Given the description of an element on the screen output the (x, y) to click on. 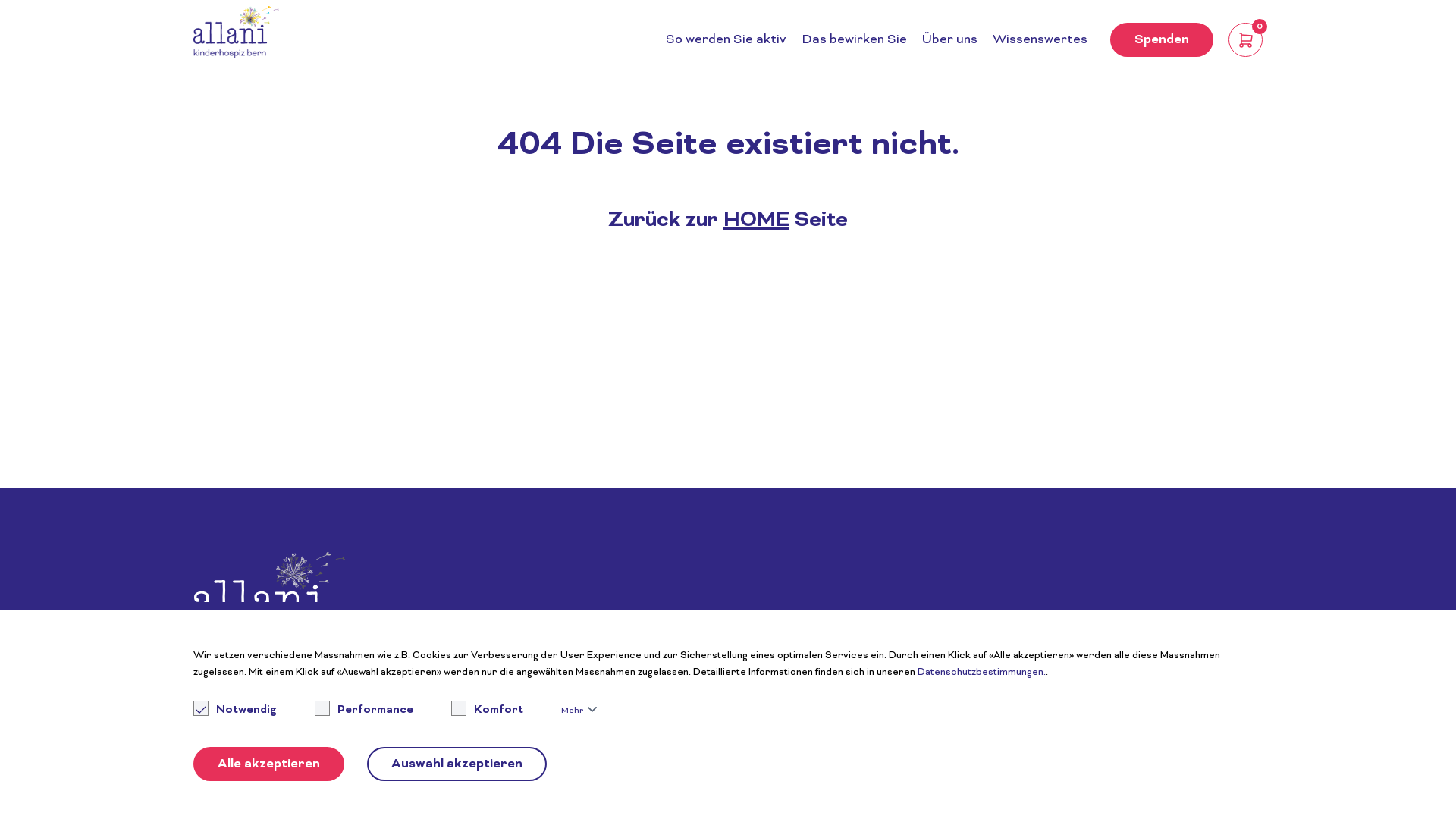
So werden Sie aktiv Element type: text (725, 39)
info@allani.ch Element type: text (514, 697)
Das bewirken Sie Element type: text (853, 39)
Medien Element type: text (963, 668)
Spenden Element type: text (1161, 39)
+41 31 515 70 90 Element type: text (654, 697)
Fragen & Antworten Element type: text (998, 632)
Datenschutzbestimmungen. Element type: text (981, 673)
HOME Element type: text (756, 220)
AGB Element type: text (956, 738)
Datenschutz Element type: text (978, 720)
Alle akzeptieren Element type: text (268, 763)
Auswahl akzeptieren Element type: text (456, 763)
Wissenswertes Element type: text (1039, 39)
Spenden Element type: text (1210, 622)
Newsletter Element type: text (974, 614)
Blog Element type: text (956, 650)
Impressum Element type: text (972, 702)
